Given the description of an element on the screen output the (x, y) to click on. 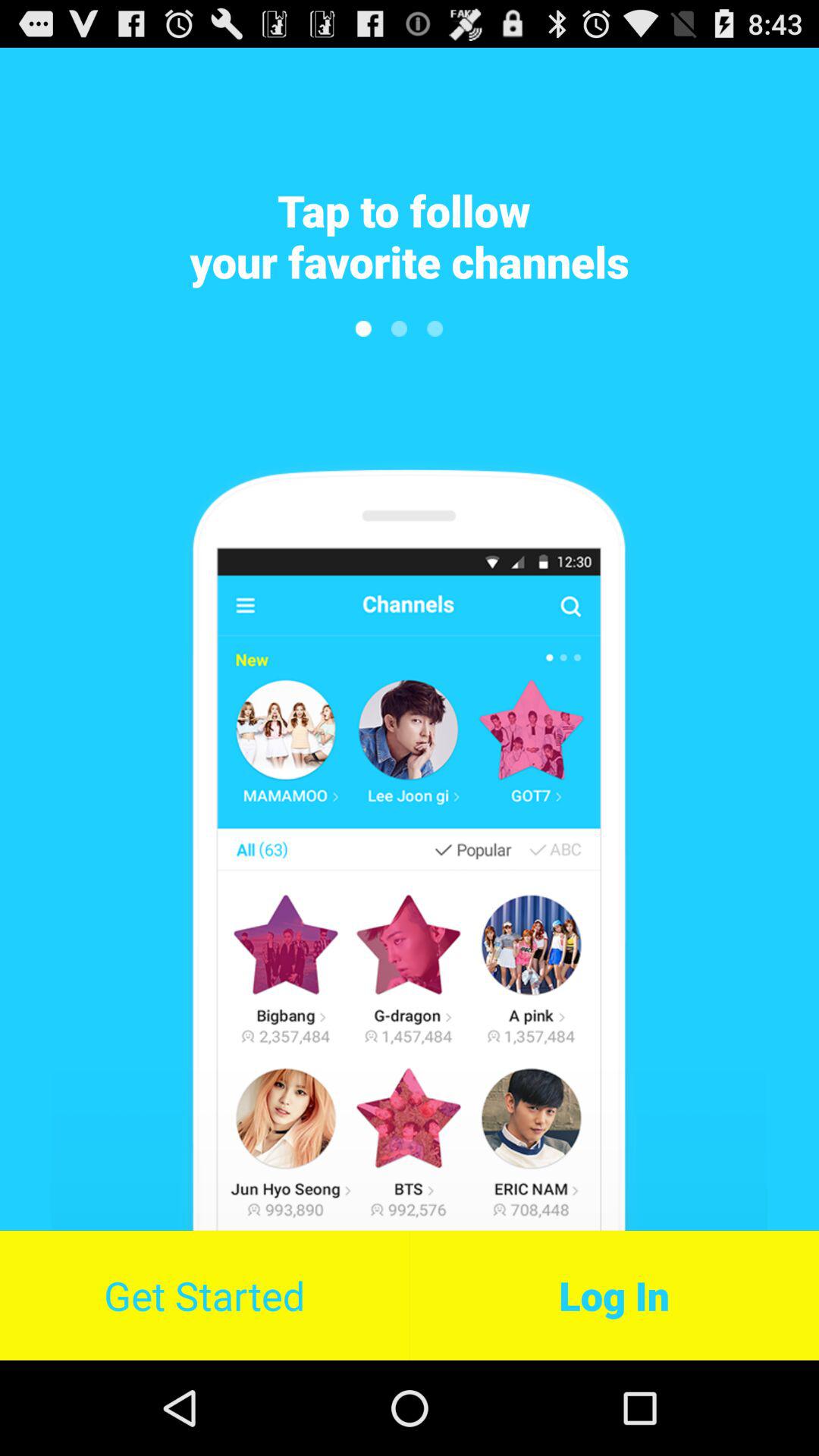
jump until the get started (204, 1295)
